Given the description of an element on the screen output the (x, y) to click on. 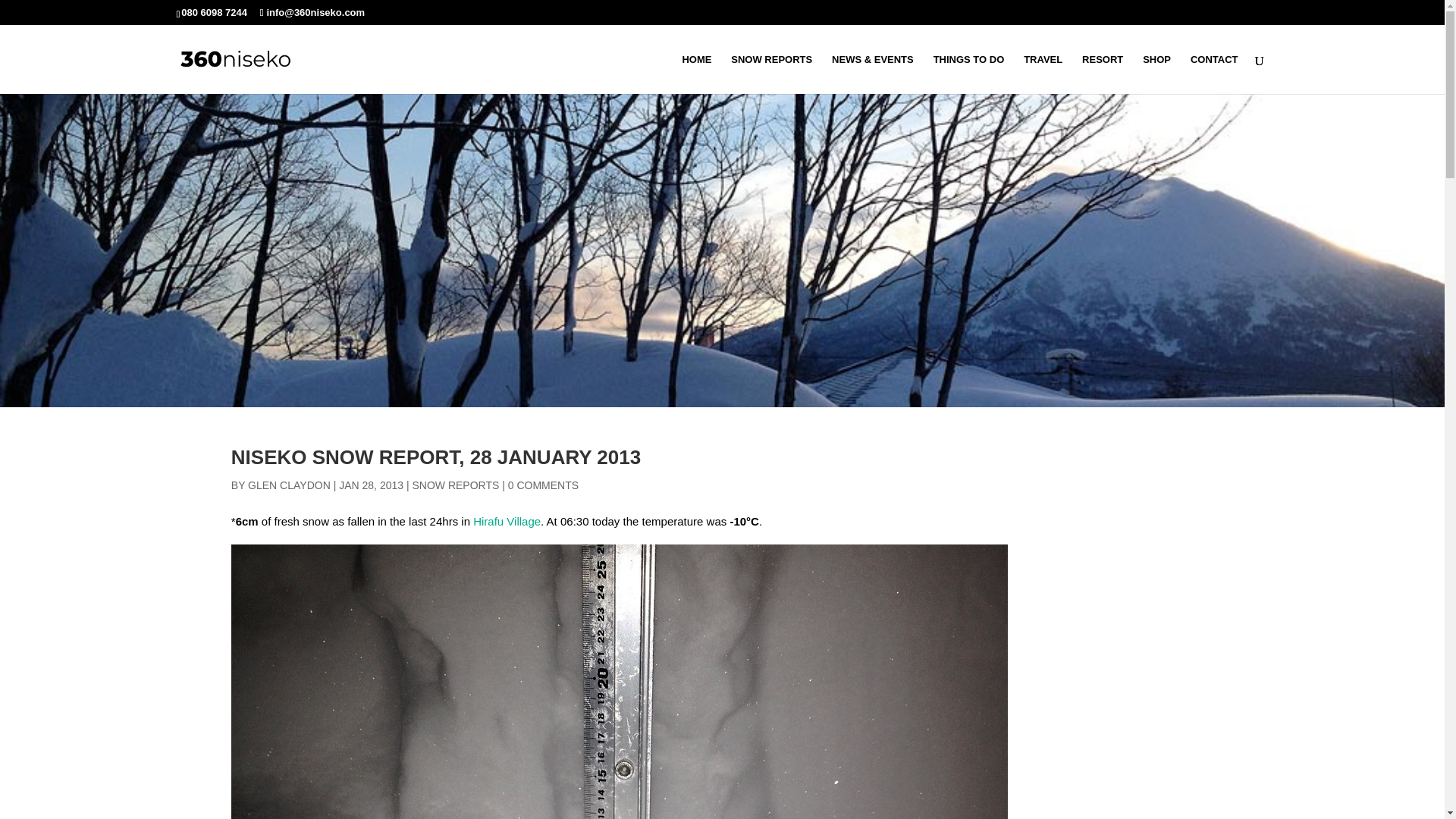
Hirafu Village (506, 521)
Posts by Glen Claydon (288, 485)
TRAVEL (1042, 74)
SNOW REPORTS (455, 485)
GLEN CLAYDON (288, 485)
360niseko ski run location page (506, 521)
THINGS TO DO (968, 74)
SNOW REPORTS (771, 74)
RESORT (1101, 74)
0 COMMENTS (543, 485)
CONTACT (1215, 74)
